Given the description of an element on the screen output the (x, y) to click on. 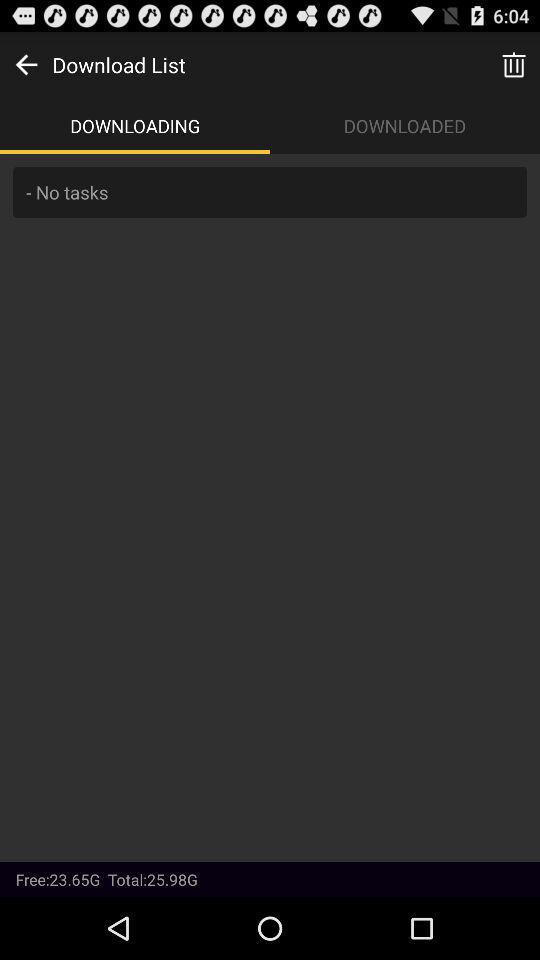
go back button (26, 64)
